Given the description of an element on the screen output the (x, y) to click on. 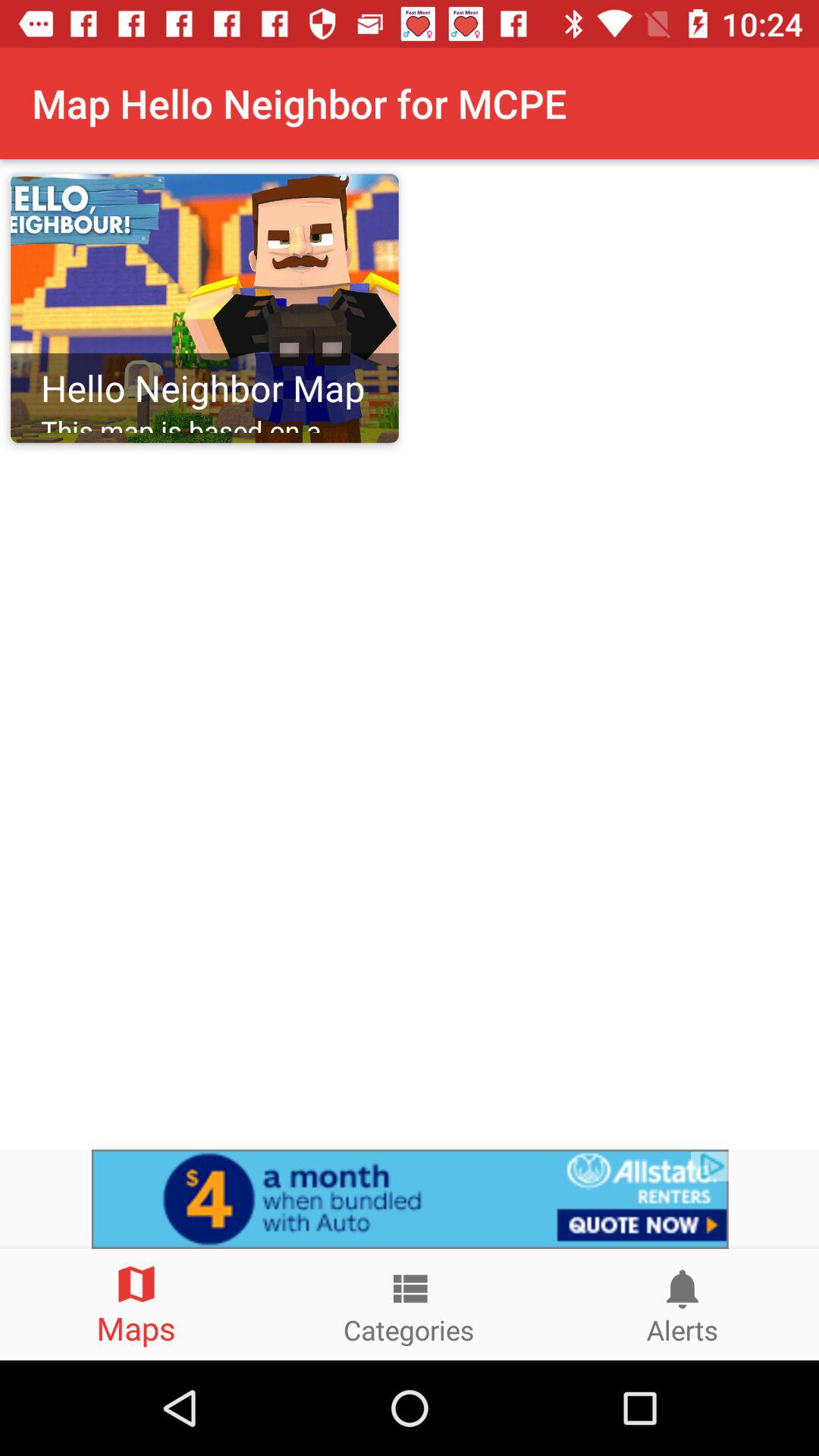
click to view advertisements options (409, 1198)
